Given the description of an element on the screen output the (x, y) to click on. 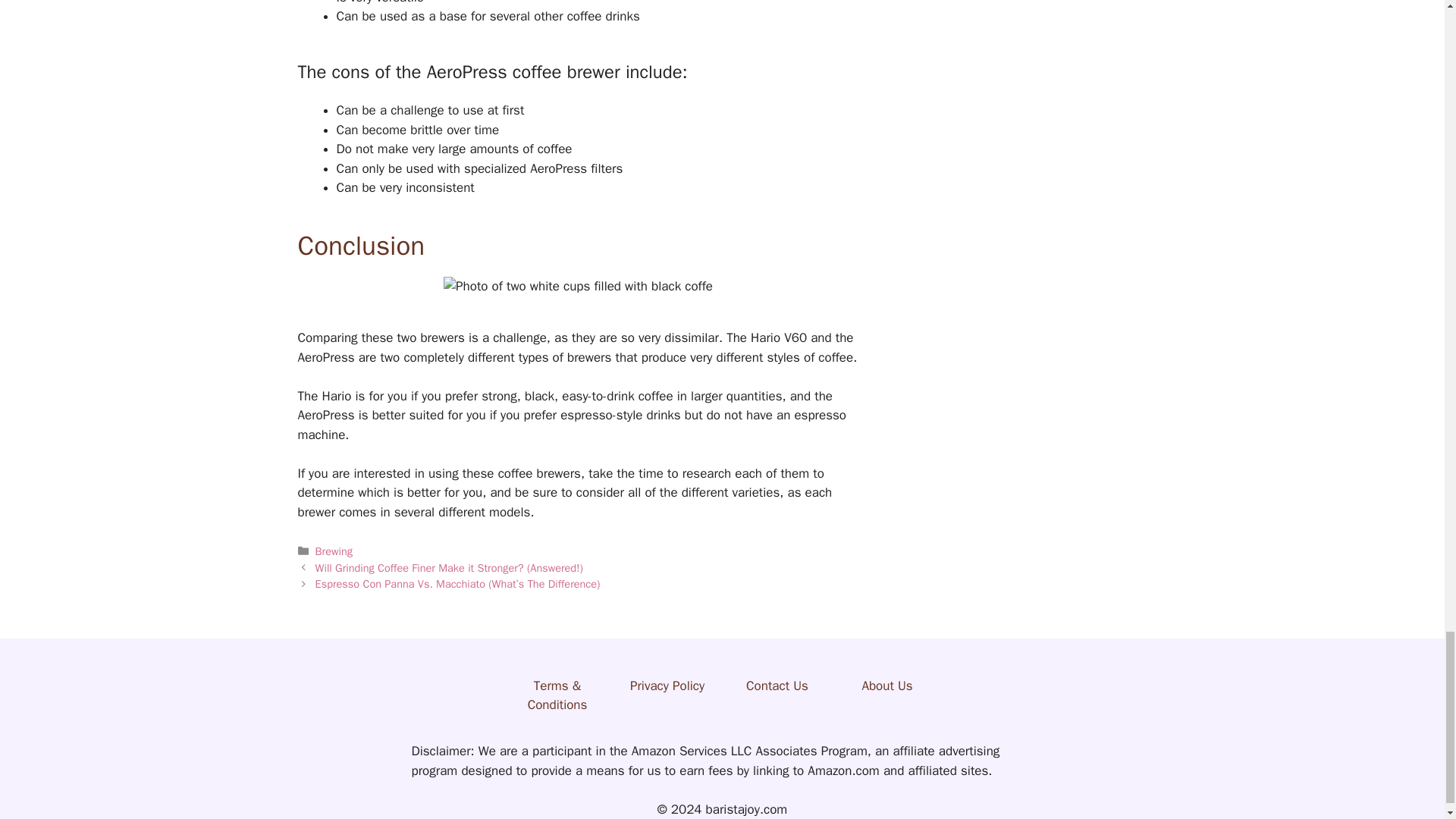
About Us (886, 685)
Contact Us (776, 685)
Privacy Policy (667, 685)
Brewing (333, 550)
